Given the description of an element on the screen output the (x, y) to click on. 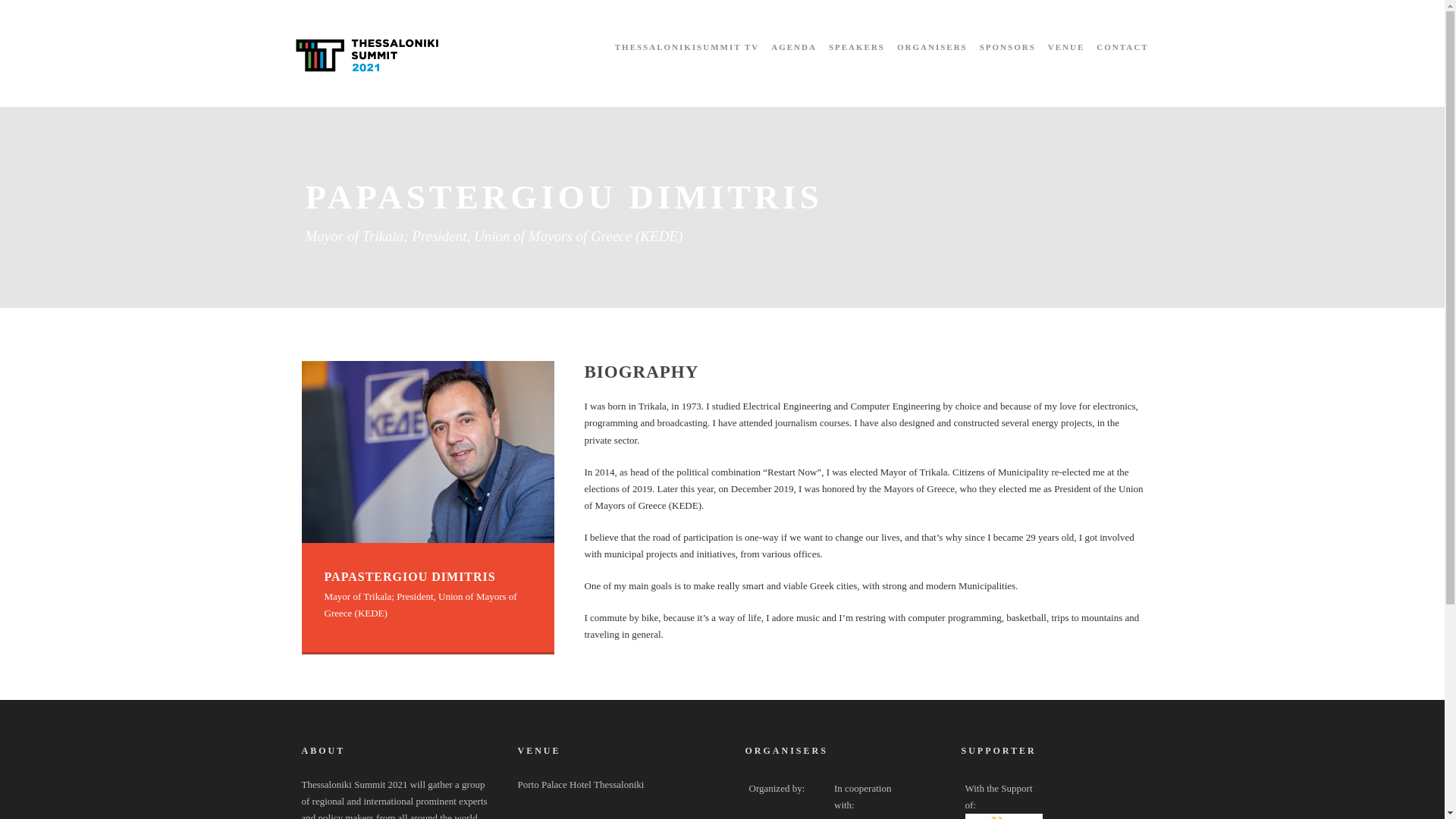
SPONSORS (1007, 61)
THESSALONIKISUMMIT TV (686, 61)
AGENDA (793, 61)
ORGANISERS (932, 61)
CONTACT (1122, 61)
SPEAKERS (856, 61)
